Given the description of an element on the screen output the (x, y) to click on. 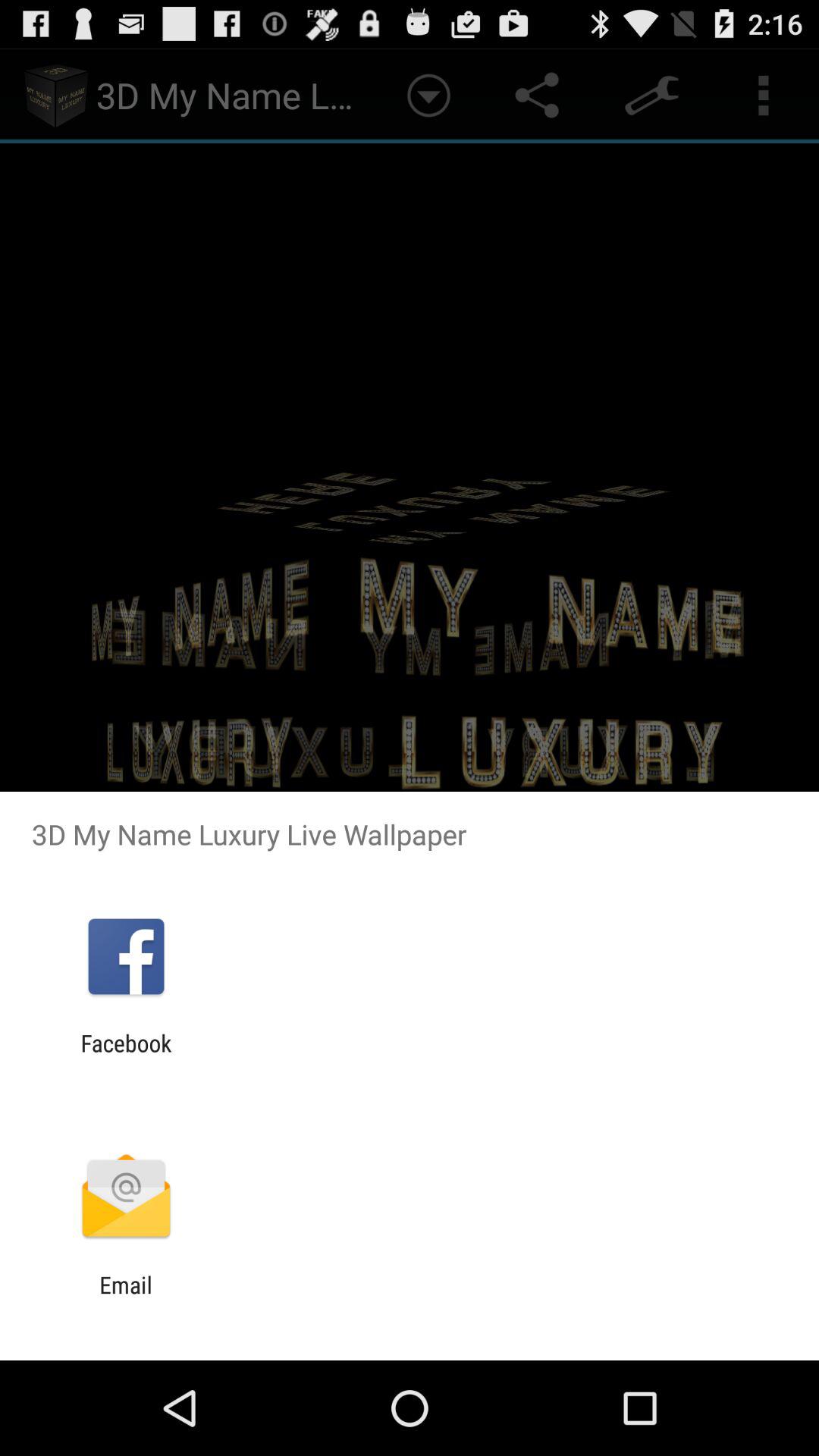
swipe to facebook app (125, 1056)
